Given the description of an element on the screen output the (x, y) to click on. 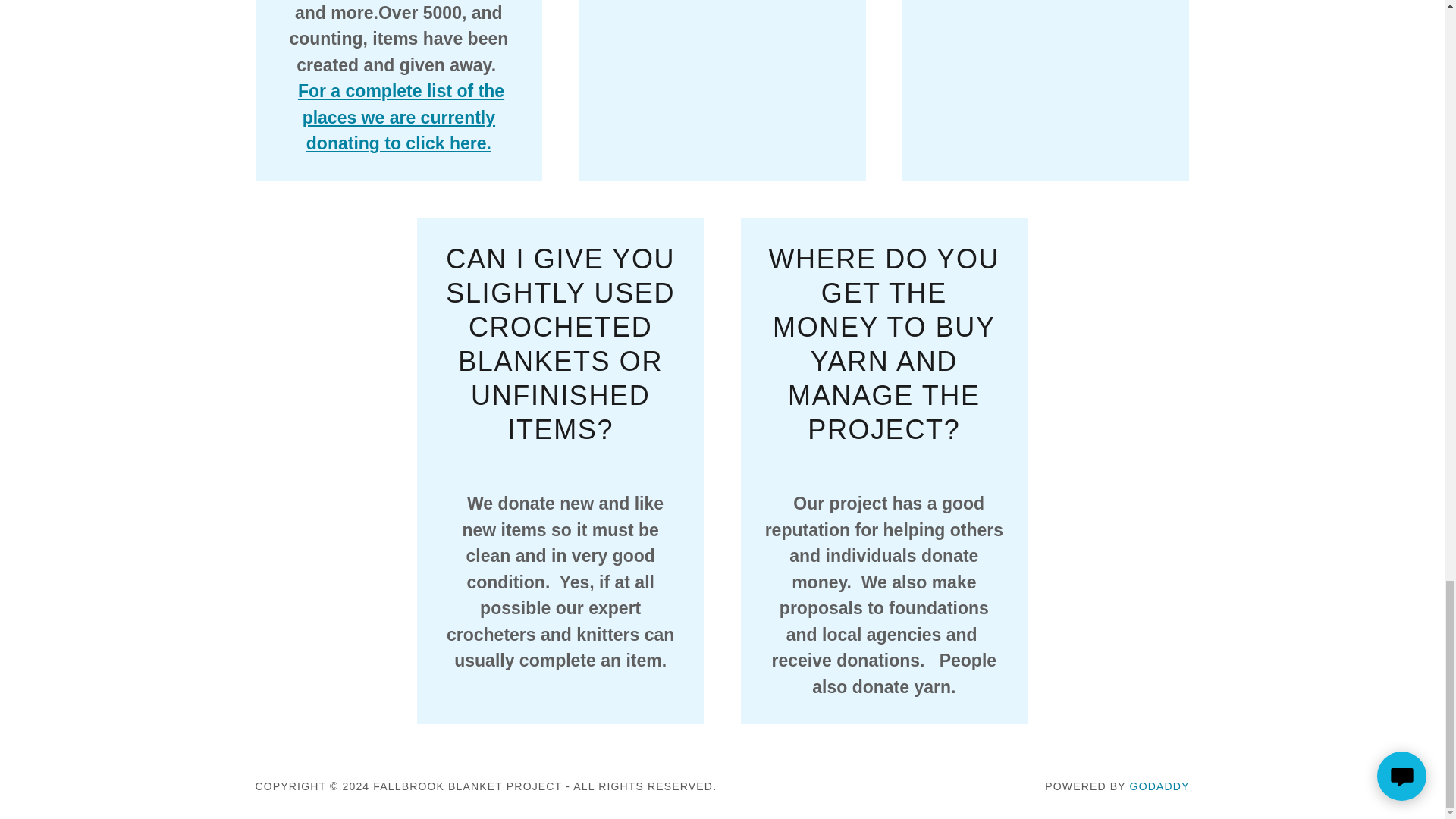
GODADDY (1159, 786)
